Given the description of an element on the screen output the (x, y) to click on. 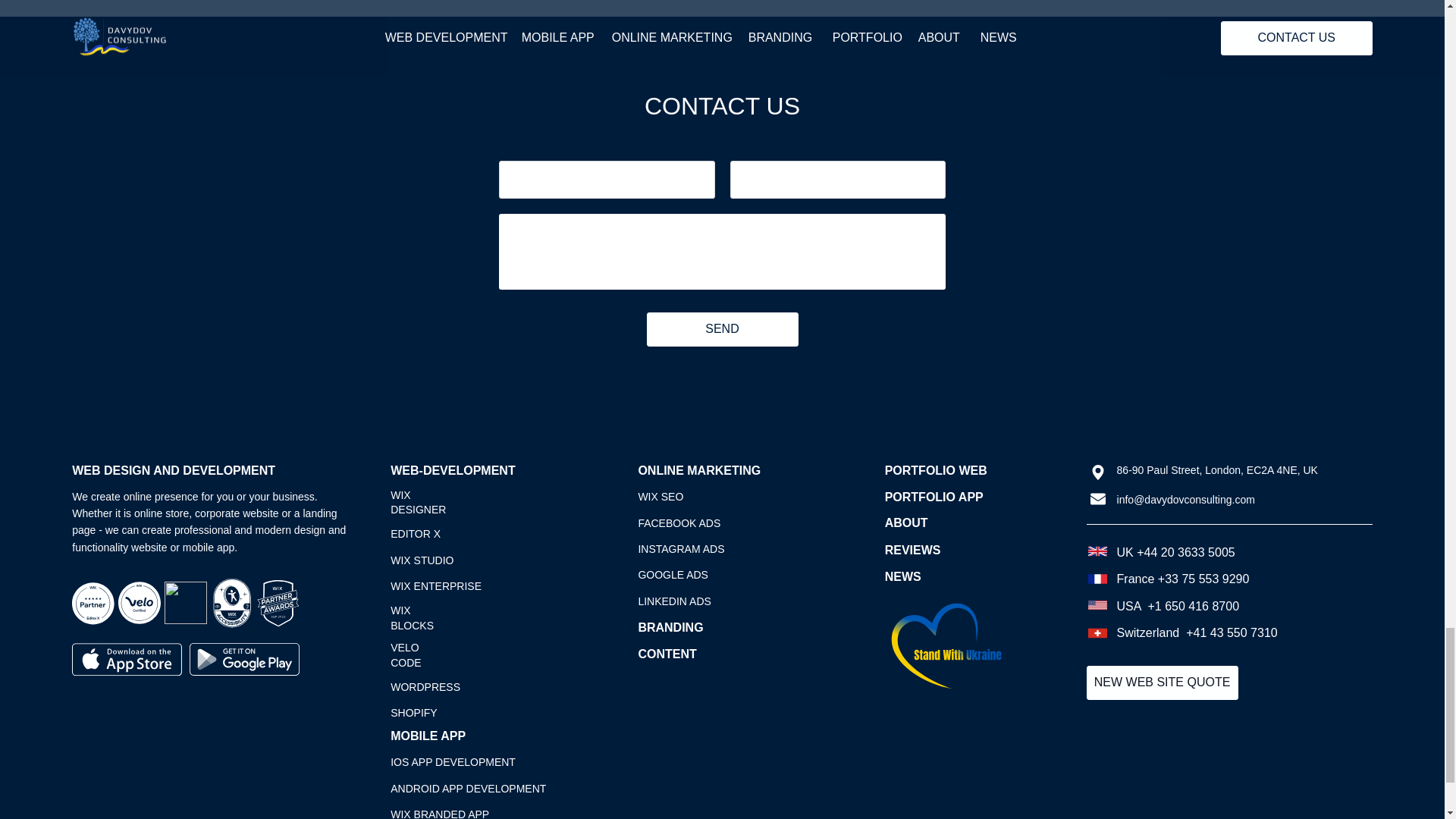
SEND (721, 329)
